Given the description of an element on the screen output the (x, y) to click on. 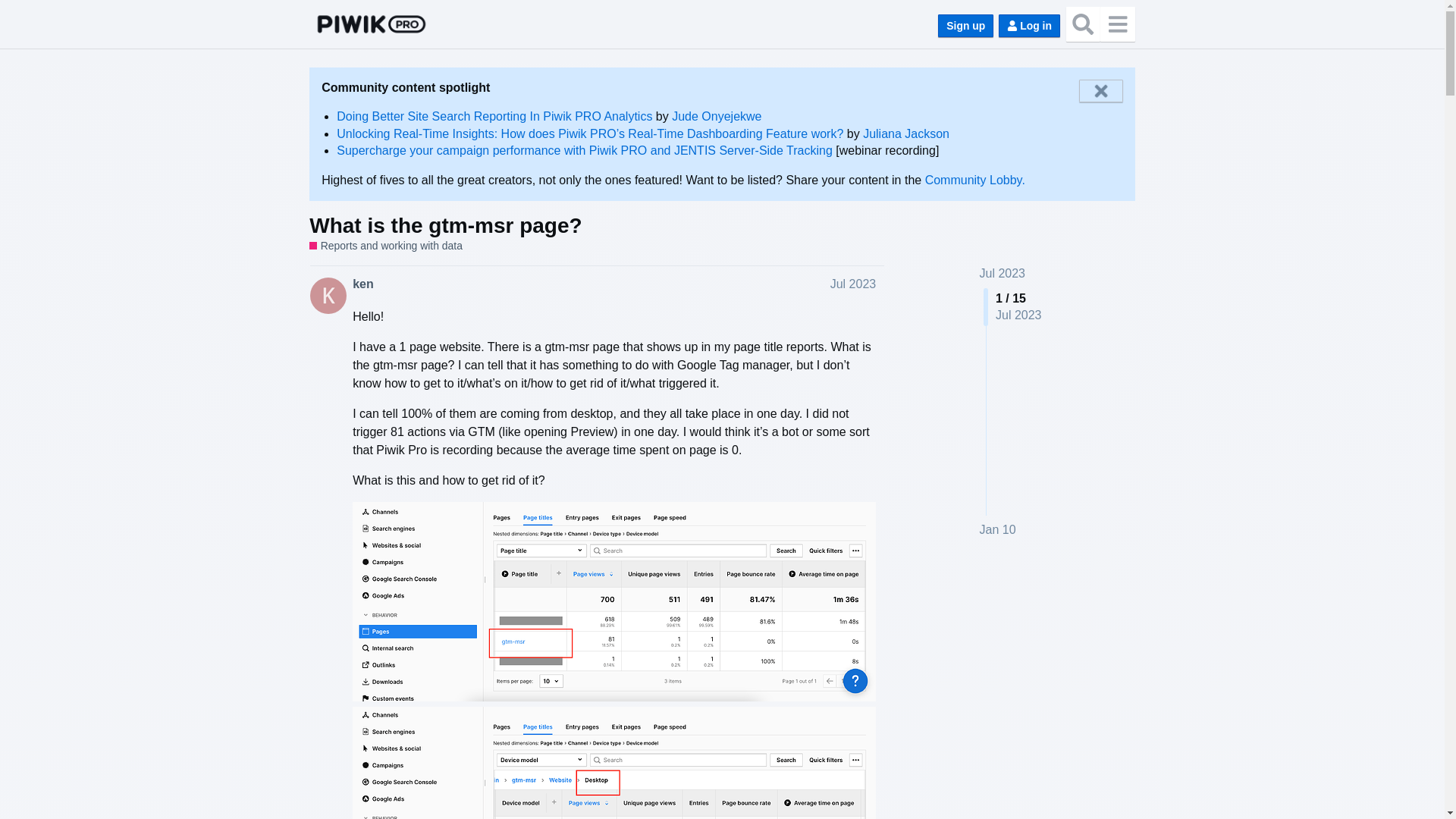
Jump to the first post (1002, 273)
Community Lobby. (974, 179)
Jul 2023 (852, 283)
Jude Onyejekwe (716, 115)
Dismiss this banner (1100, 90)
Log in (1028, 25)
Search (1082, 23)
Reports and working with data (385, 246)
menu (1117, 23)
Jan 10 (997, 529)
Jump to the last post (997, 529)
Doing Better Site Search Reporting In Piwik PRO Analytics (494, 115)
Post date (852, 283)
